Given the description of an element on the screen output the (x, y) to click on. 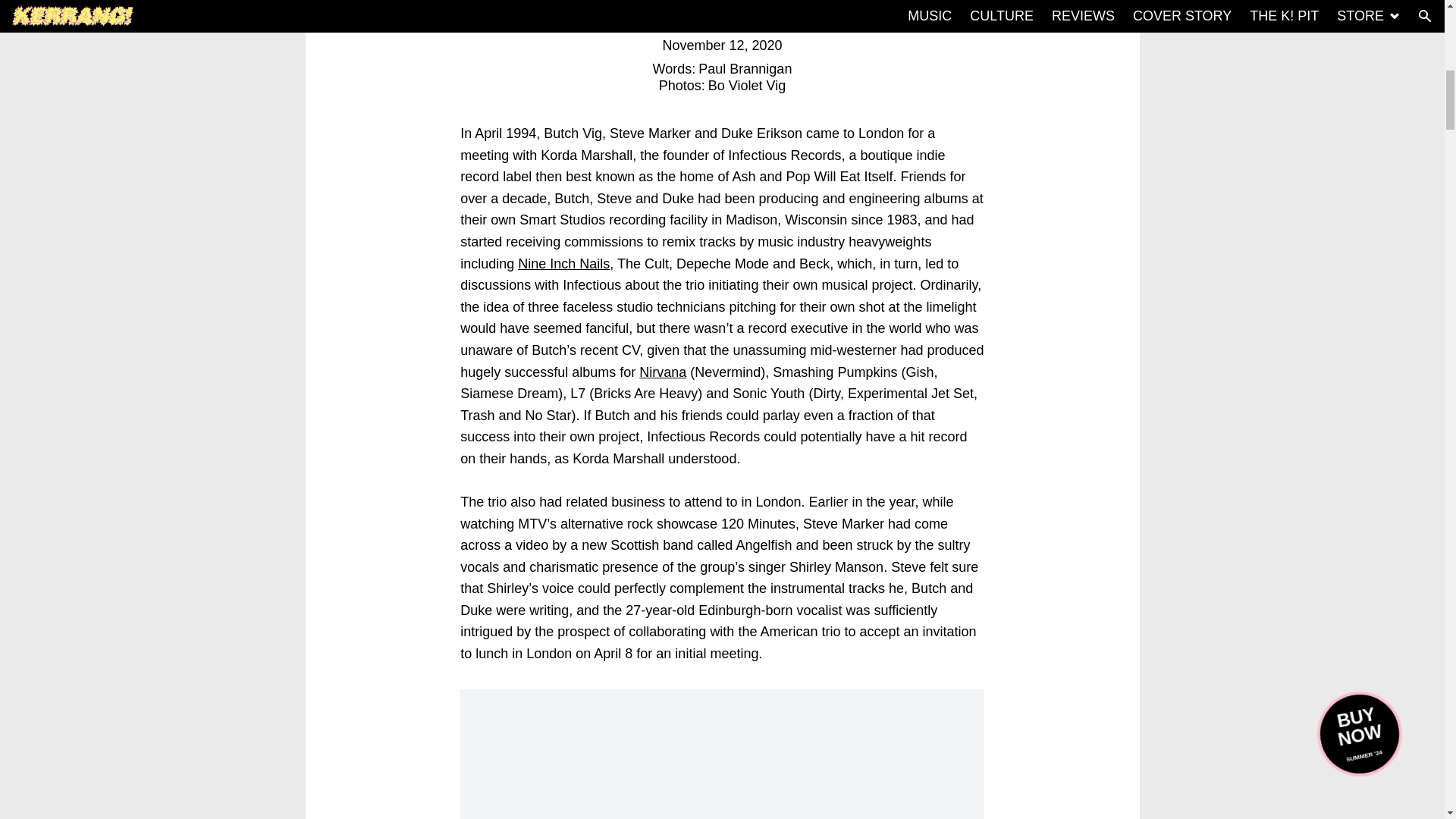
Nine Inch Nails (564, 263)
Nirvana (662, 372)
